Given the description of an element on the screen output the (x, y) to click on. 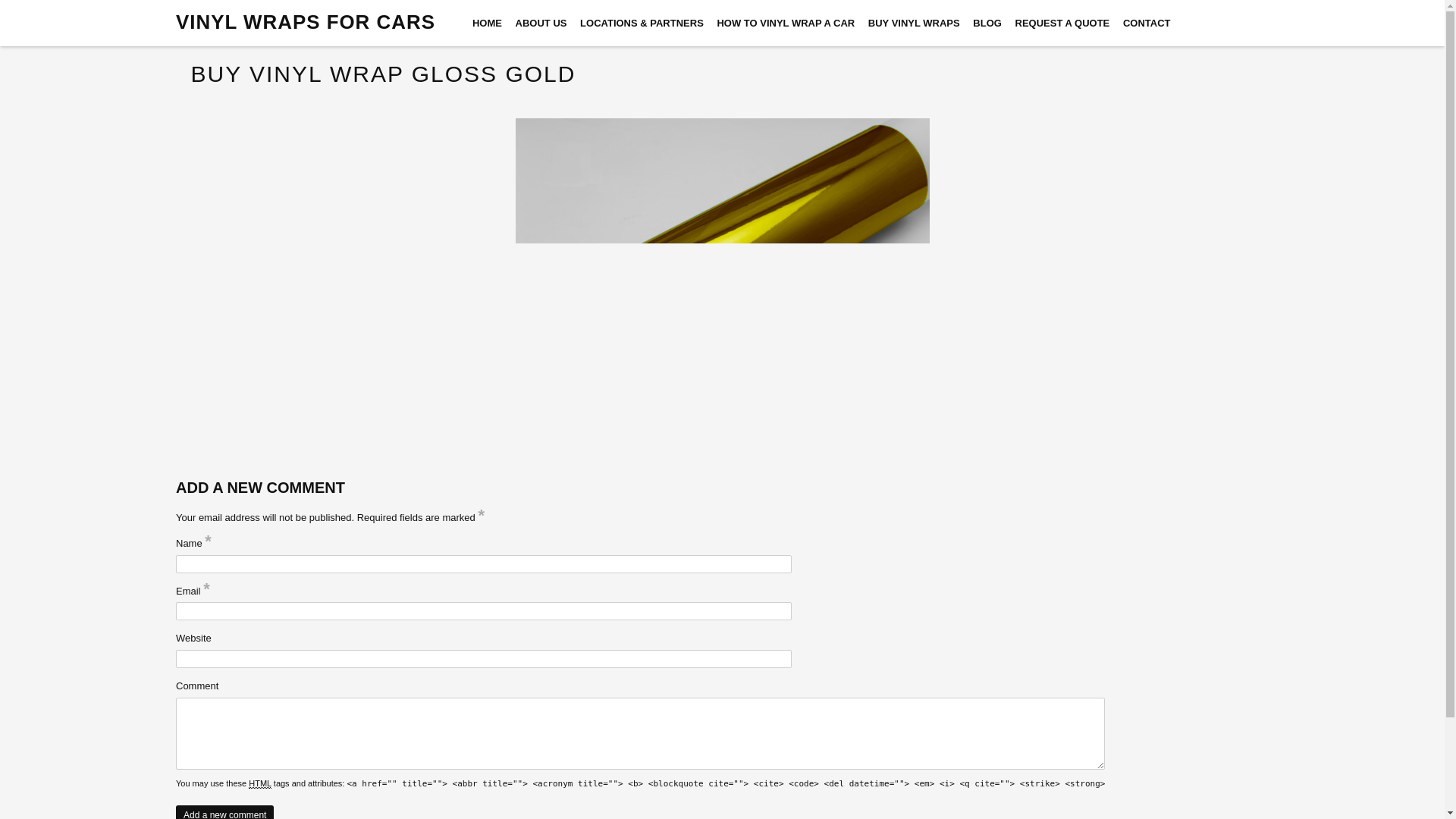
BLOG (986, 23)
Add a new comment (224, 812)
HOME (486, 23)
HyperText Markup Language (259, 782)
HOW TO VINYL WRAP A CAR (785, 23)
VINYL WRAPS FOR CARS (305, 22)
REQUEST A QUOTE (1061, 23)
BUY VINYL WRAPS (913, 23)
CONTACT (1146, 23)
